Given the description of an element on the screen output the (x, y) to click on. 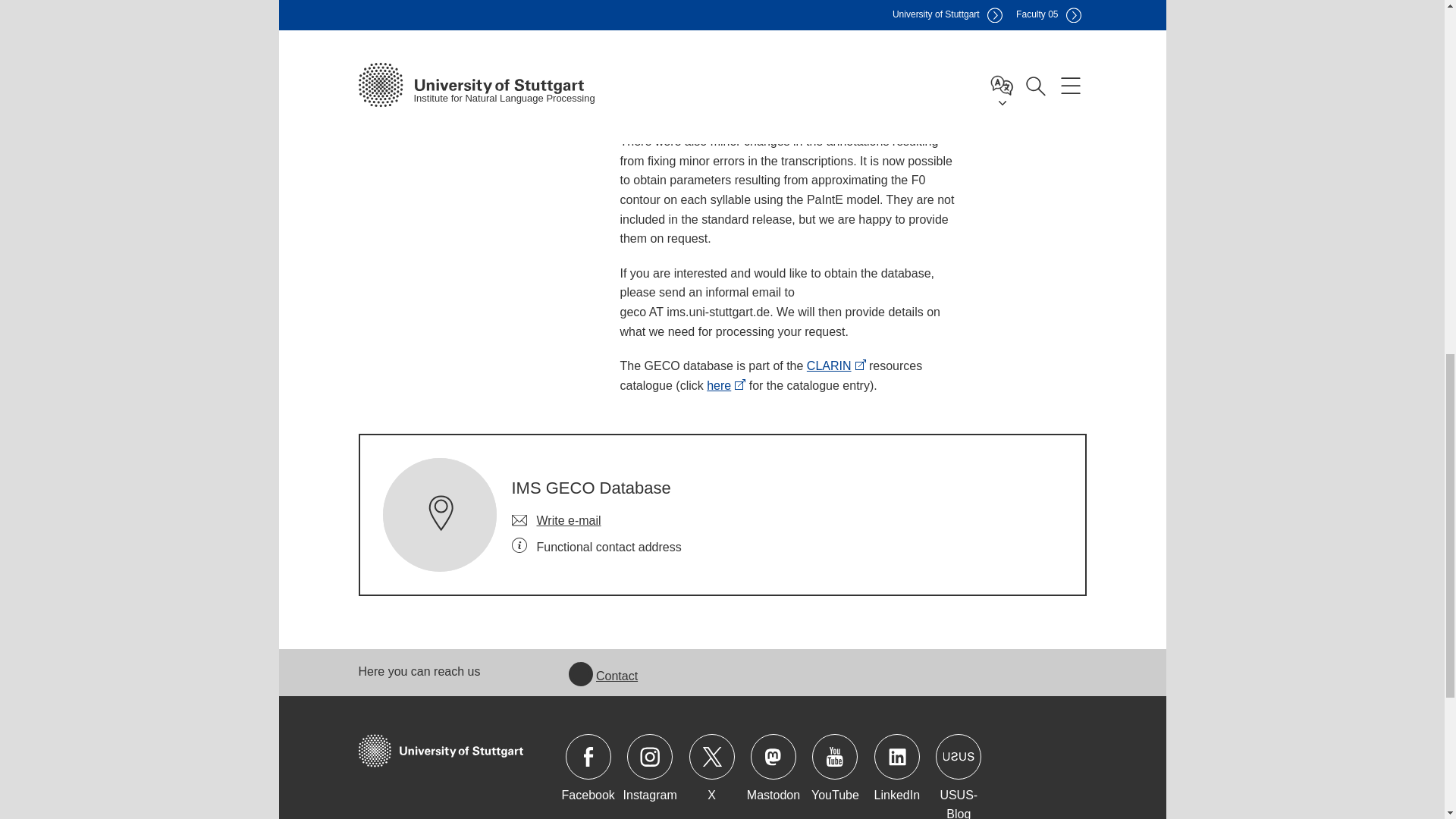
To the top of the page (1135, 38)
To the top of the page (1135, 30)
